Given the description of an element on the screen output the (x, y) to click on. 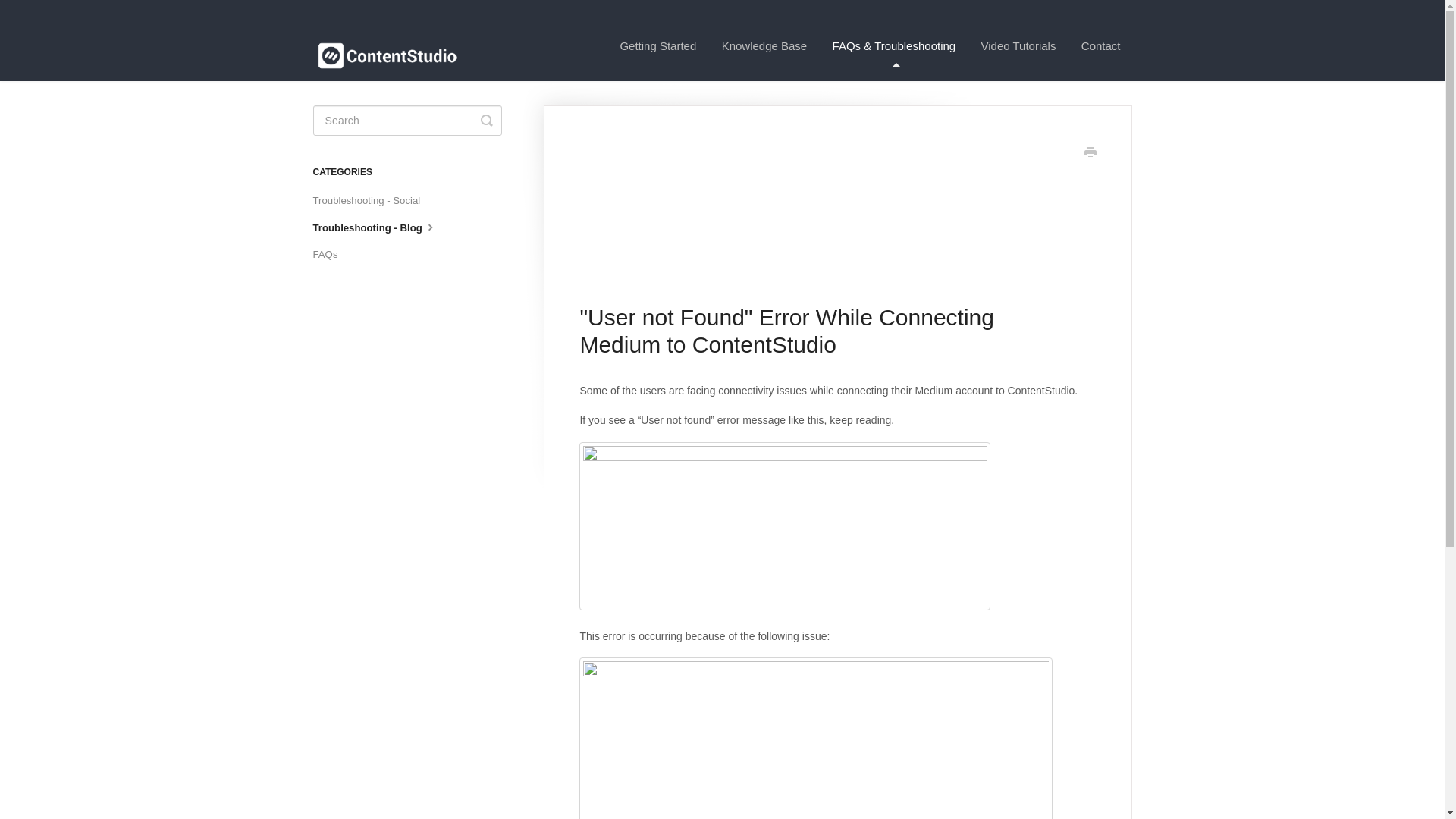
Troubleshooting - Social (371, 200)
Knowledge Base (764, 45)
Contact (1101, 45)
search-query (406, 120)
Troubleshooting - Blog (381, 227)
FAQs (331, 254)
Video Tutorials (1018, 45)
Getting Started (657, 45)
